Given the description of an element on the screen output the (x, y) to click on. 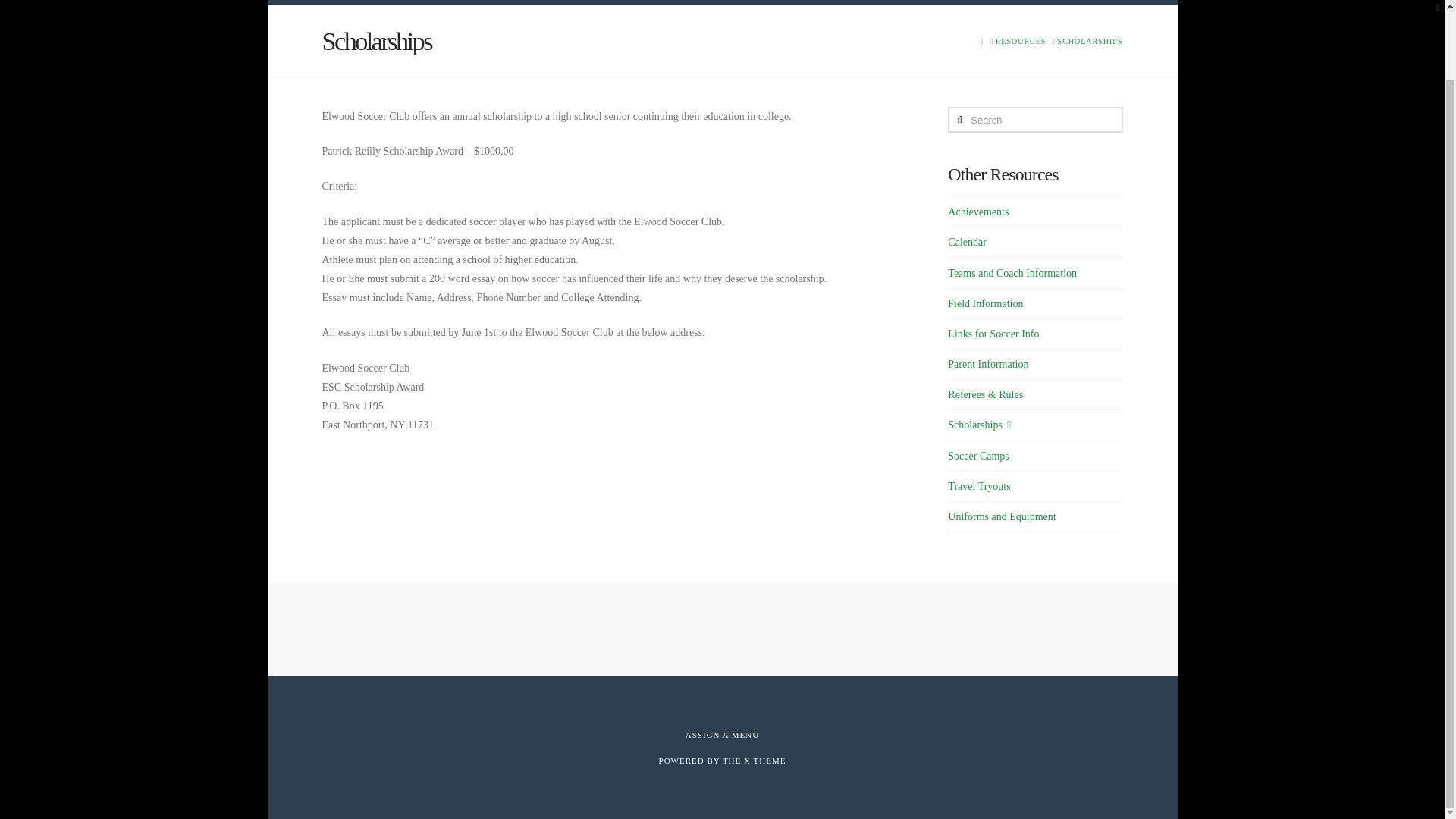
CAMPS (771, 2)
RESOURCES (856, 2)
CONTACTS (950, 2)
RESOURCES (1020, 40)
SCHEDULES (690, 2)
You Are Here (1090, 40)
